Given the description of an element on the screen output the (x, y) to click on. 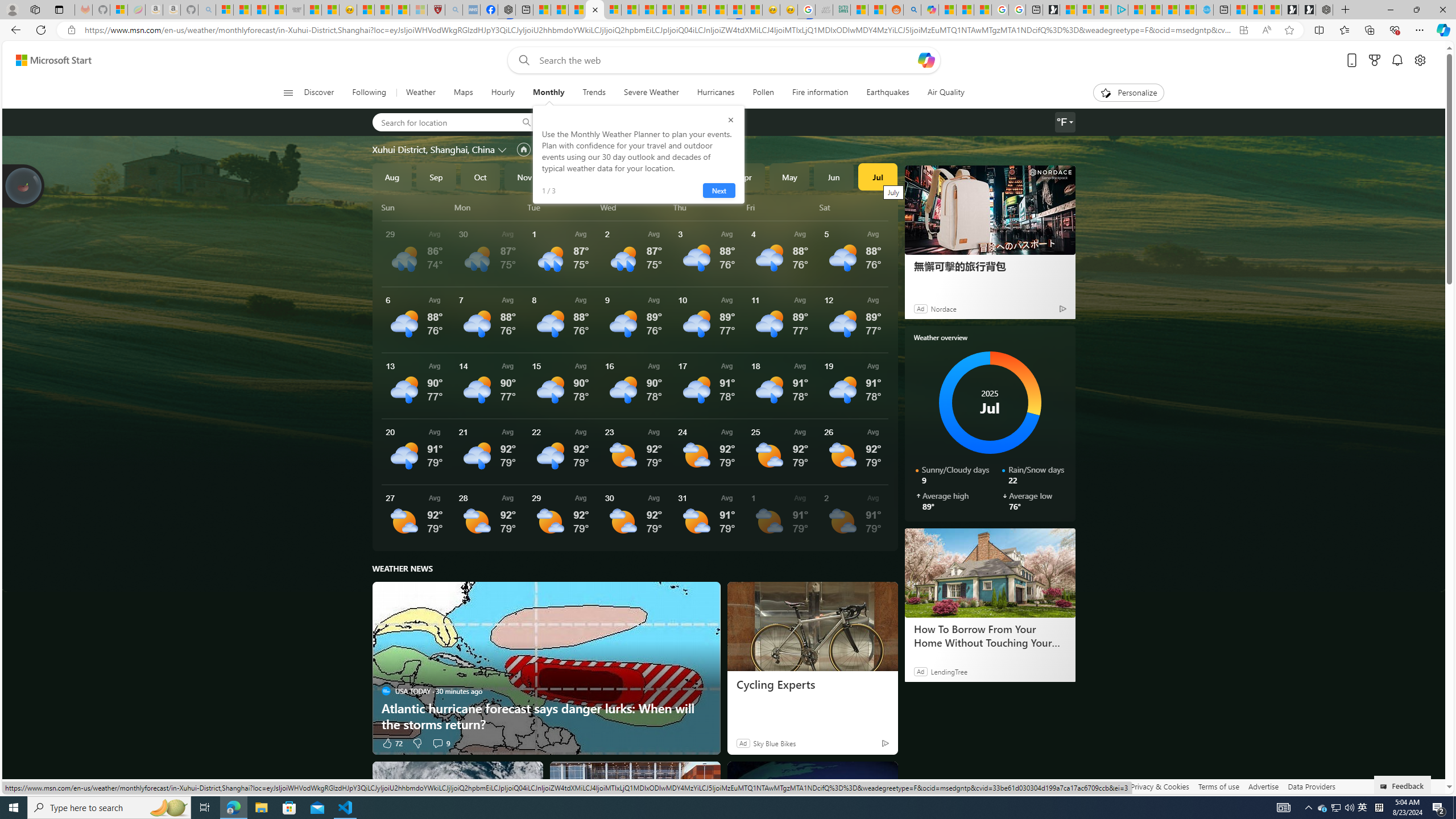
Open settings (1420, 60)
View comments 9 Comment (440, 742)
Navy Quest (823, 9)
Skip to content (49, 59)
Monthly (547, 92)
Discover (319, 92)
